Given the description of an element on the screen output the (x, y) to click on. 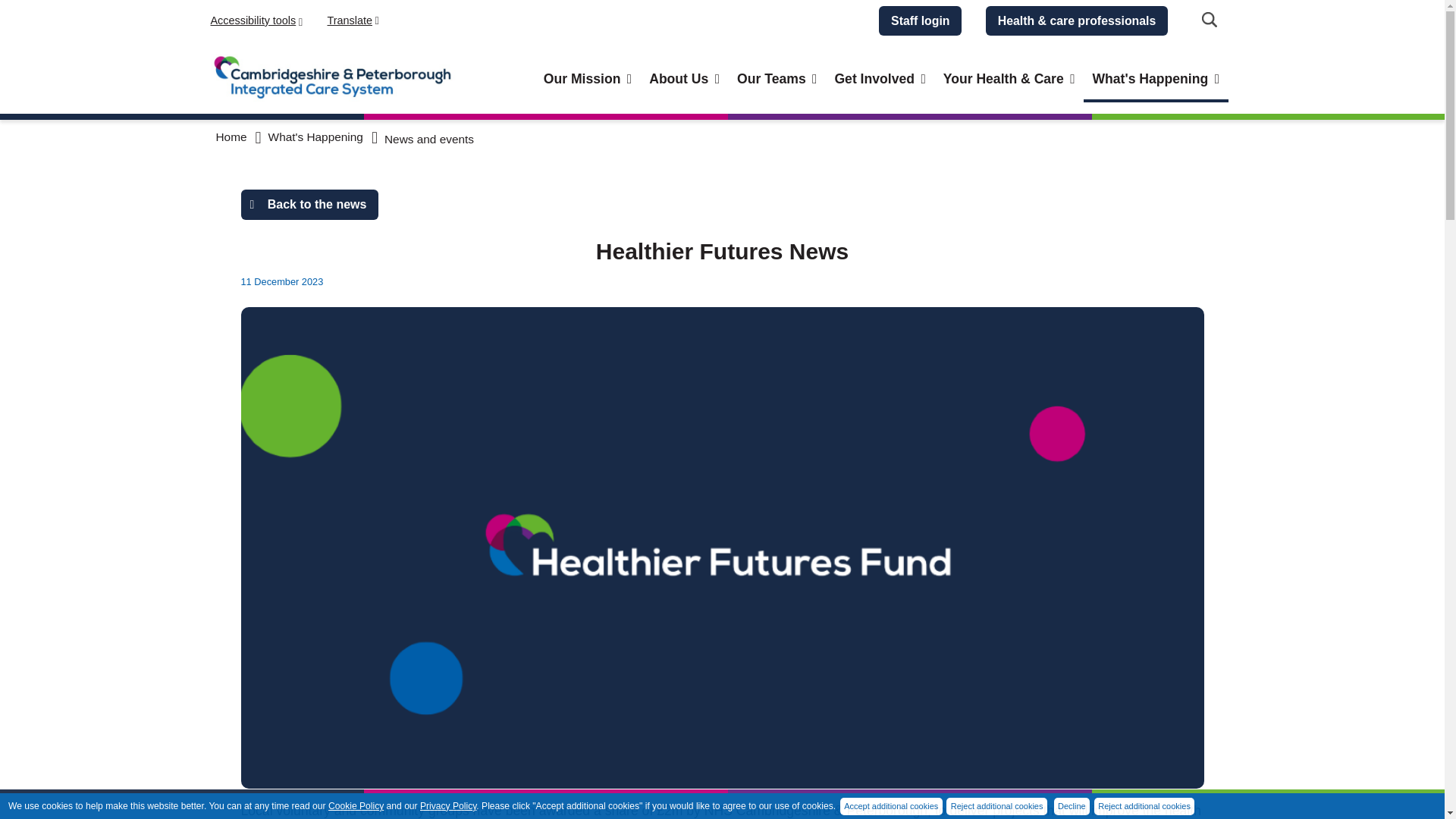
About Us (684, 80)
Decline (1072, 805)
Translate (586, 20)
Accept additional cookies (891, 805)
Staff login (919, 20)
Staff login (919, 20)
Our Mission (587, 80)
Search Button (1209, 20)
Our Mission (448, 805)
For professionals (1076, 20)
Accessibility tools (256, 21)
